Given the description of an element on the screen output the (x, y) to click on. 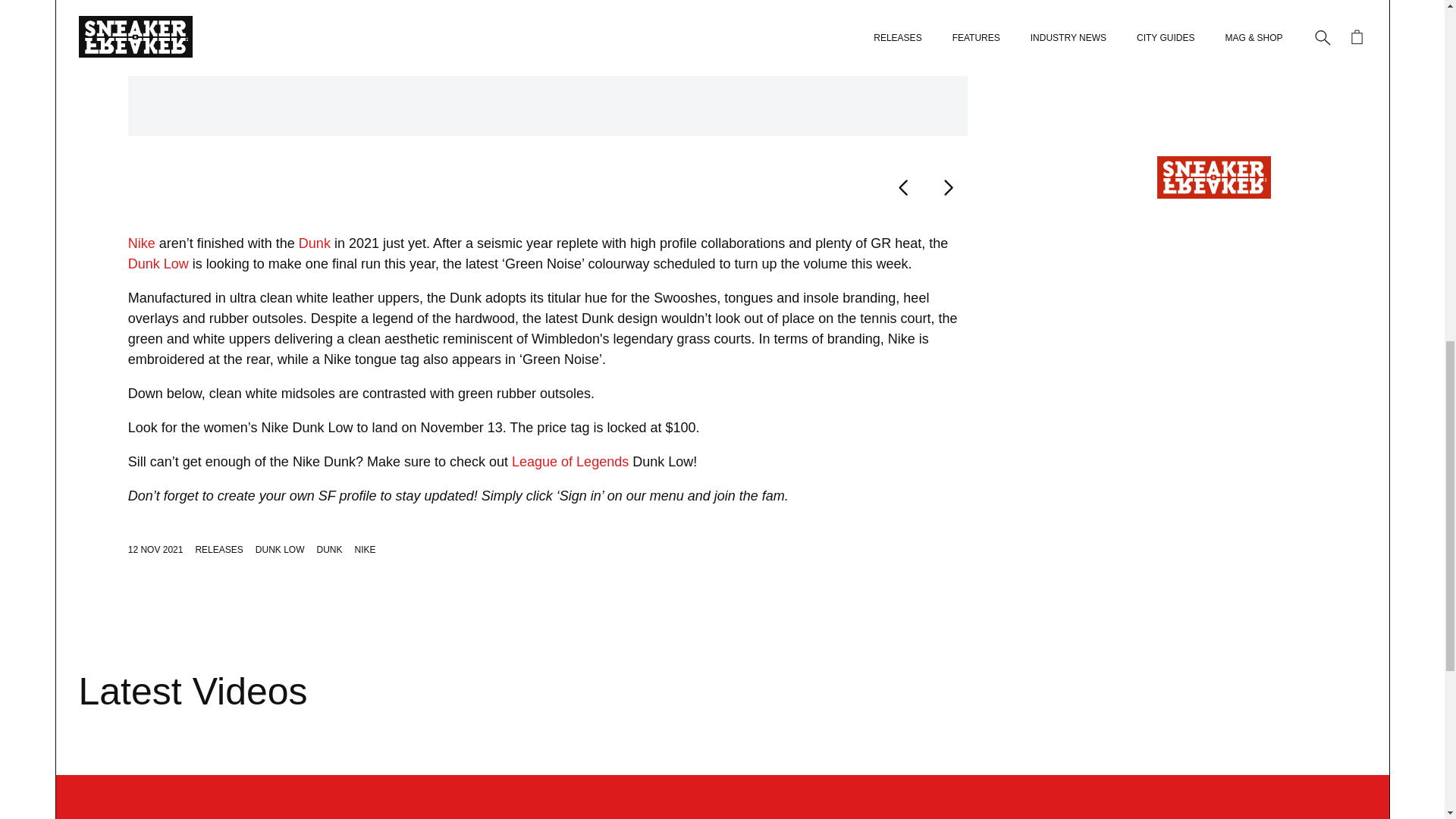
Nike (141, 242)
Dunk (314, 242)
League of Legends (570, 460)
RELEASES (219, 549)
DUNK LOW (280, 549)
NIKE (365, 549)
Dunk Low (158, 263)
DUNK (329, 549)
